Given the description of an element on the screen output the (x, y) to click on. 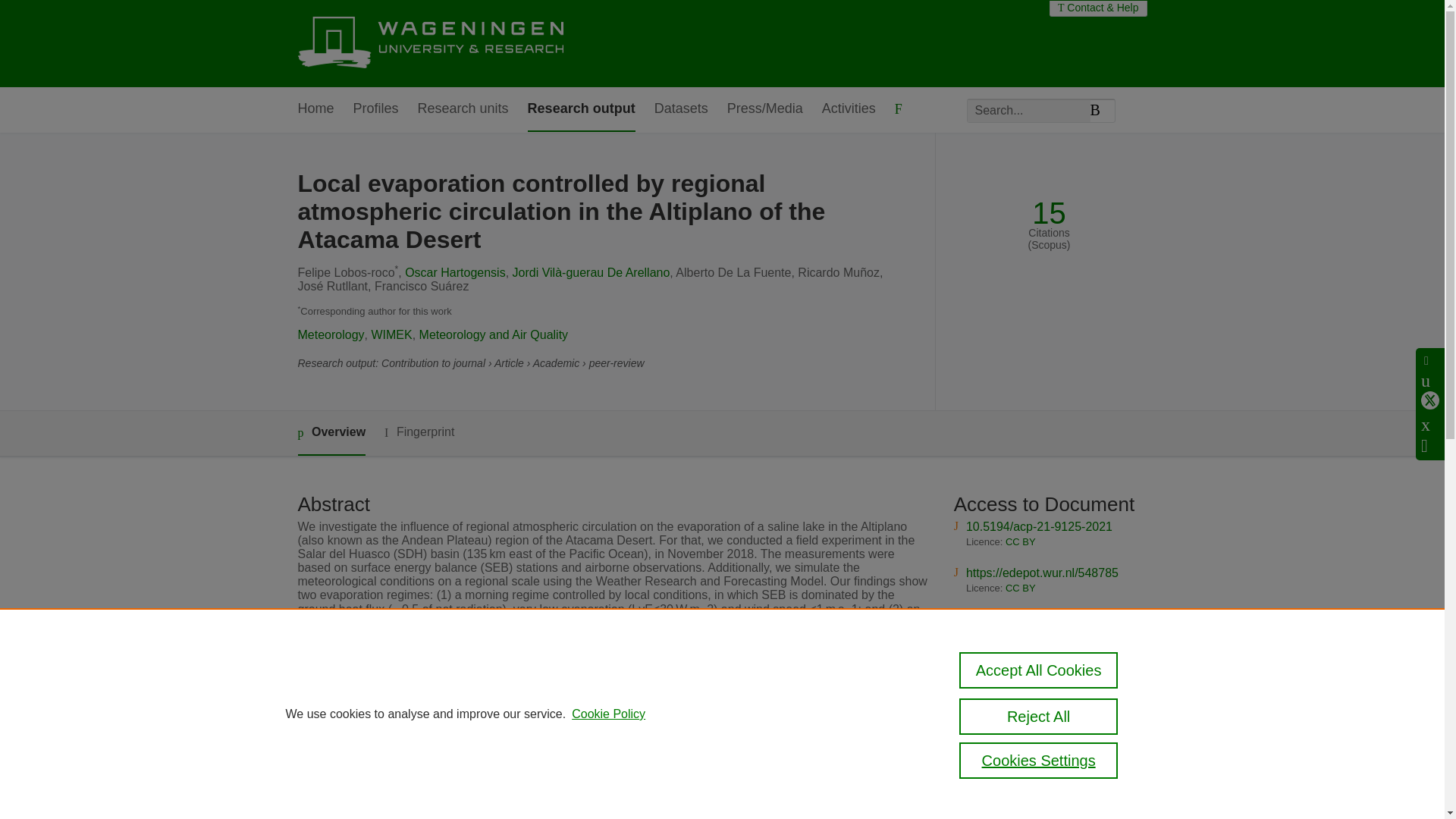
Datasets (680, 108)
Meteorology and Air Quality (494, 334)
WIMEK (391, 334)
Fingerprint (419, 432)
Overview (331, 433)
Meteorology (330, 334)
Profiles (375, 108)
CC BY (1020, 587)
Oscar Hartogensis (454, 272)
Research output (580, 108)
